Given the description of an element on the screen output the (x, y) to click on. 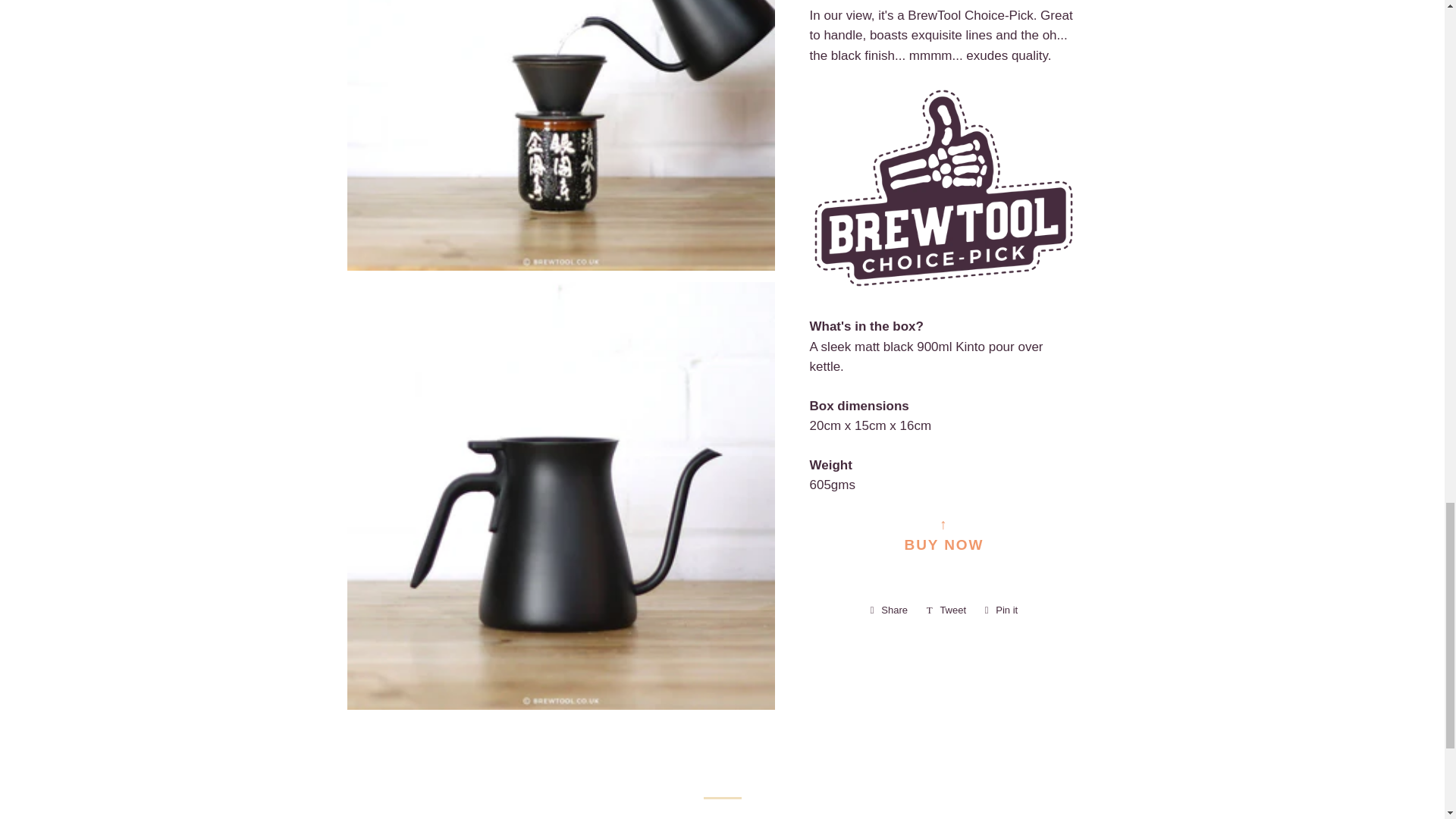
Tweet on Twitter (946, 609)
Pin on Pinterest (1000, 609)
Share on Facebook (889, 609)
